Given the description of an element on the screen output the (x, y) to click on. 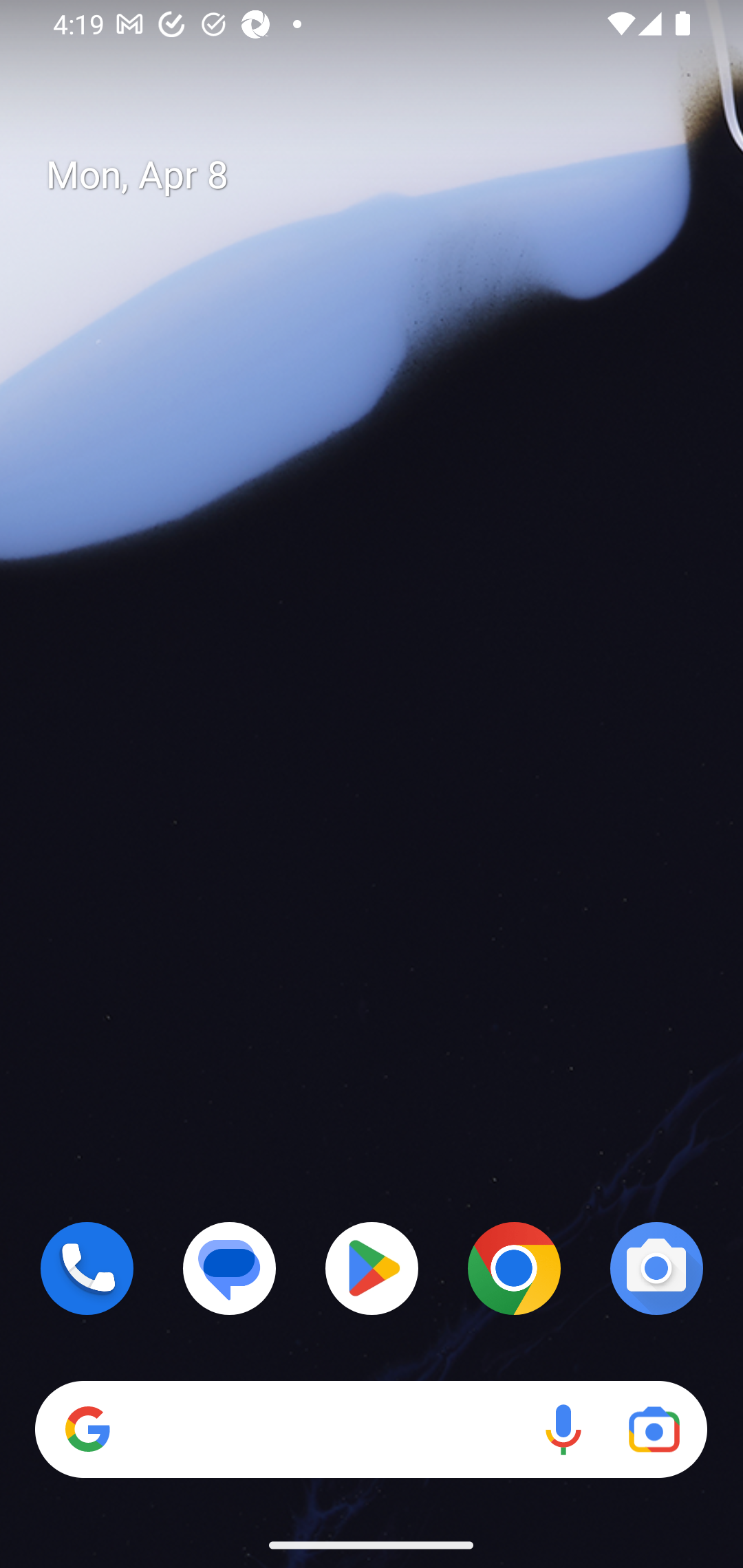
Mon, Apr 8 (386, 175)
Phone (86, 1268)
Messages (229, 1268)
Play Store (371, 1268)
Chrome (513, 1268)
Camera (656, 1268)
Search Voice search Google Lens (370, 1429)
Voice search (562, 1429)
Google Lens (653, 1429)
